Given the description of an element on the screen output the (x, y) to click on. 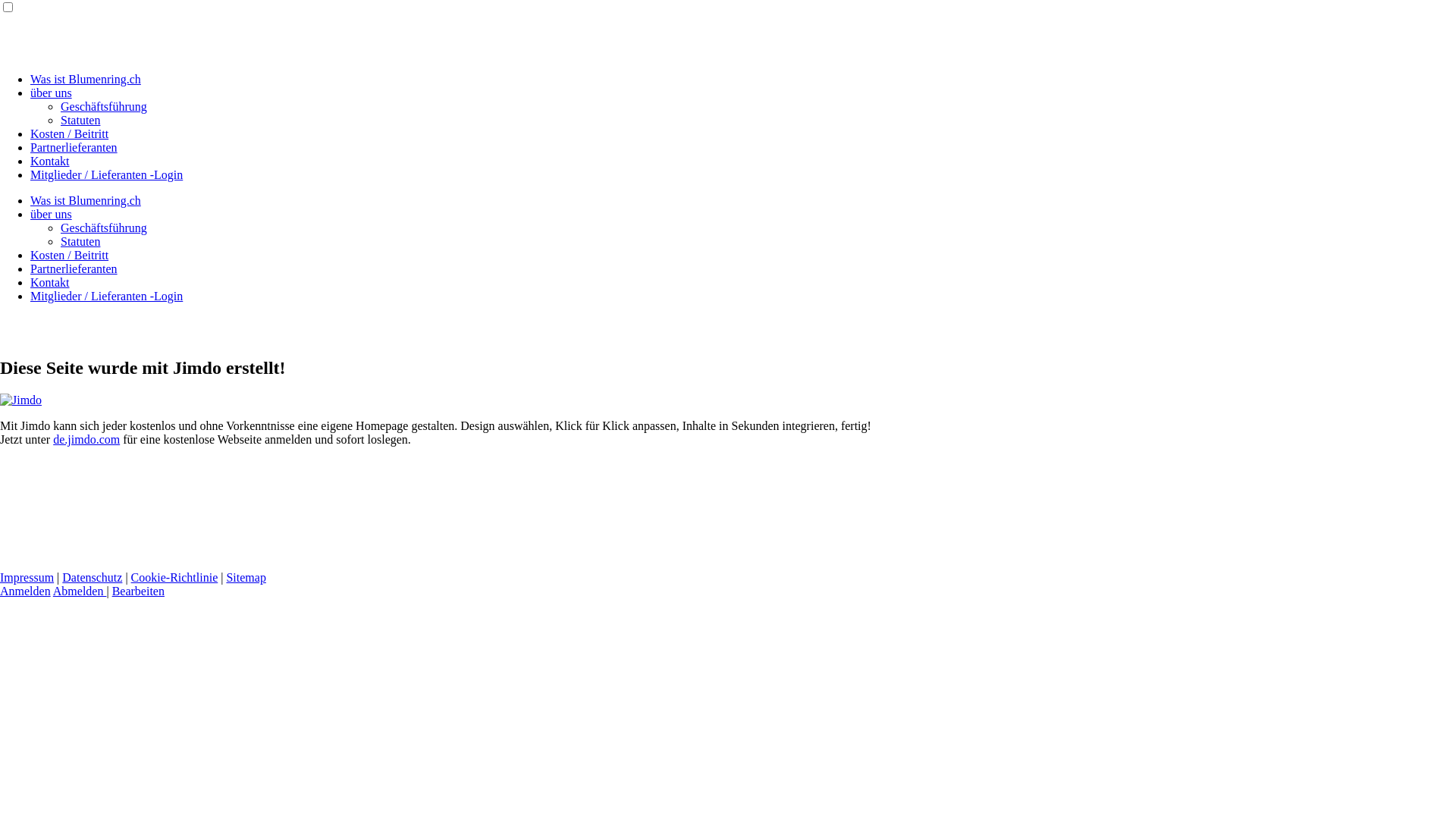
Statuten Element type: text (80, 241)
Cookie-Richtlinie Element type: text (174, 577)
de.jimdo.com Element type: text (86, 439)
Mitglieder / Lieferanten -Login Element type: text (106, 174)
Kosten / Beitritt Element type: text (69, 254)
Partnerlieferanten Element type: text (73, 147)
Bearbeiten Element type: text (138, 590)
Was ist Blumenring.ch Element type: text (85, 200)
Kontakt Element type: text (49, 282)
Impressum Element type: text (26, 577)
Kontakt Element type: text (49, 160)
Sitemap Element type: text (245, 577)
Statuten Element type: text (80, 119)
Jimdo Element type: hover (20, 400)
Datenschutz Element type: text (92, 577)
Partnerlieferanten Element type: text (73, 268)
Anmelden Element type: text (25, 590)
Mitglieder / Lieferanten -Login Element type: text (106, 295)
Abmelden Element type: text (79, 590)
Kosten / Beitritt Element type: text (69, 133)
Was ist Blumenring.ch Element type: text (85, 78)
